Given the description of an element on the screen output the (x, y) to click on. 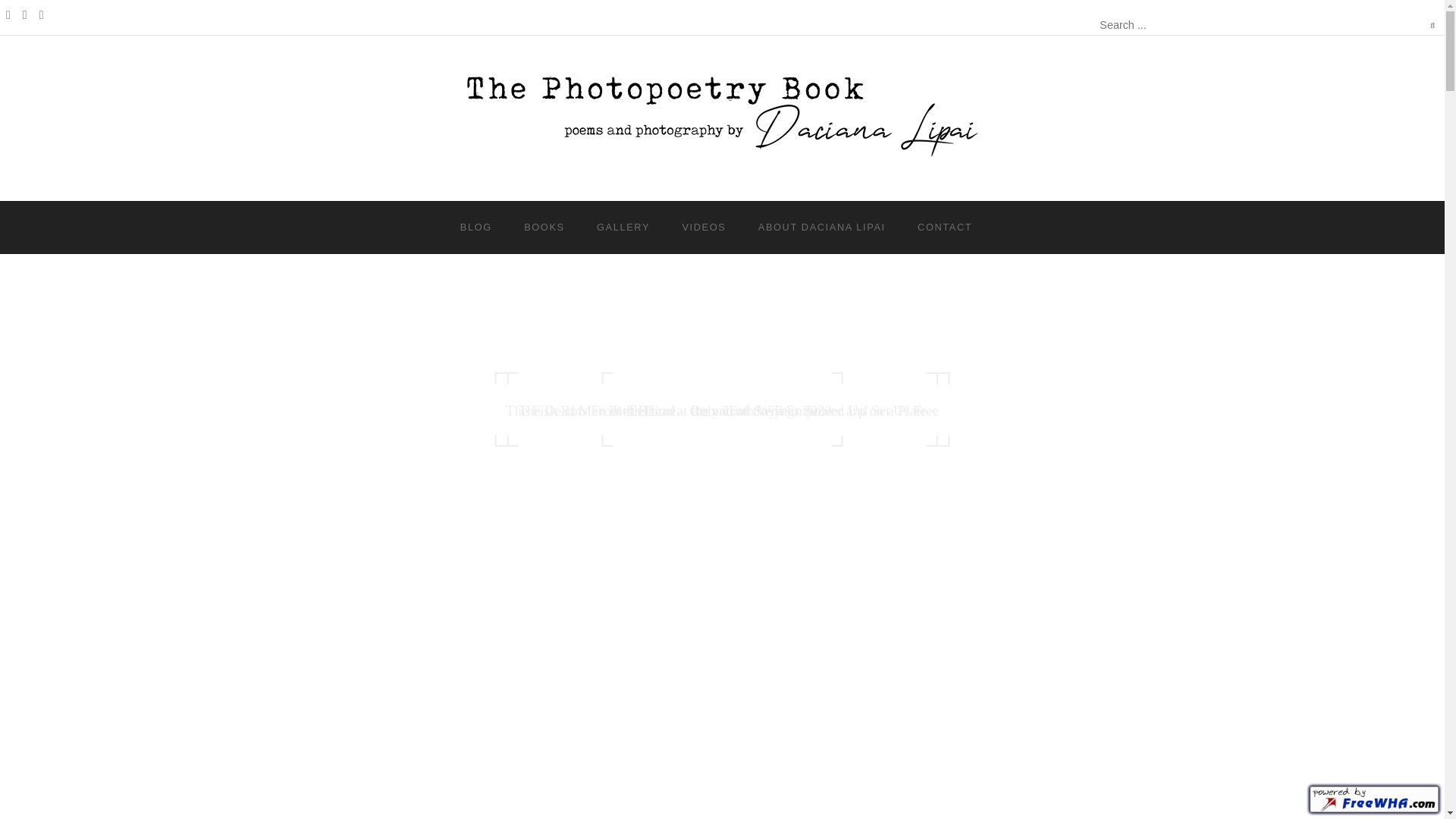
BLOG (475, 226)
CONTACT (943, 226)
thePhotoPoetryBook (721, 155)
ABOUT DACIANA LIPAI (821, 226)
Search for: (1167, 25)
GALLERY (623, 226)
BOOKS (544, 226)
VIDEOS (702, 226)
